Given the description of an element on the screen output the (x, y) to click on. 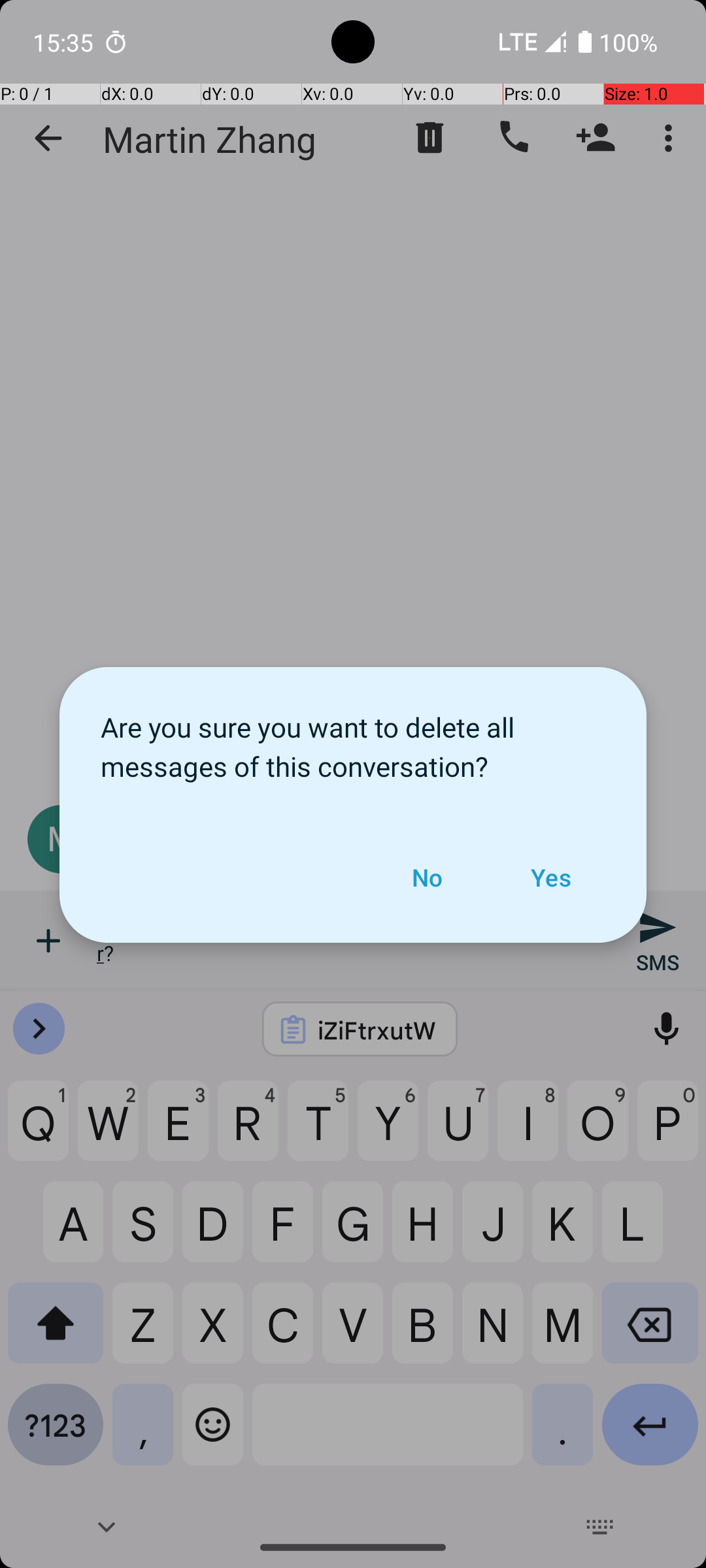
Are you sure you want to delete all messages of this conversation? Element type: android.widget.TextView (352, 739)
